Given the description of an element on the screen output the (x, y) to click on. 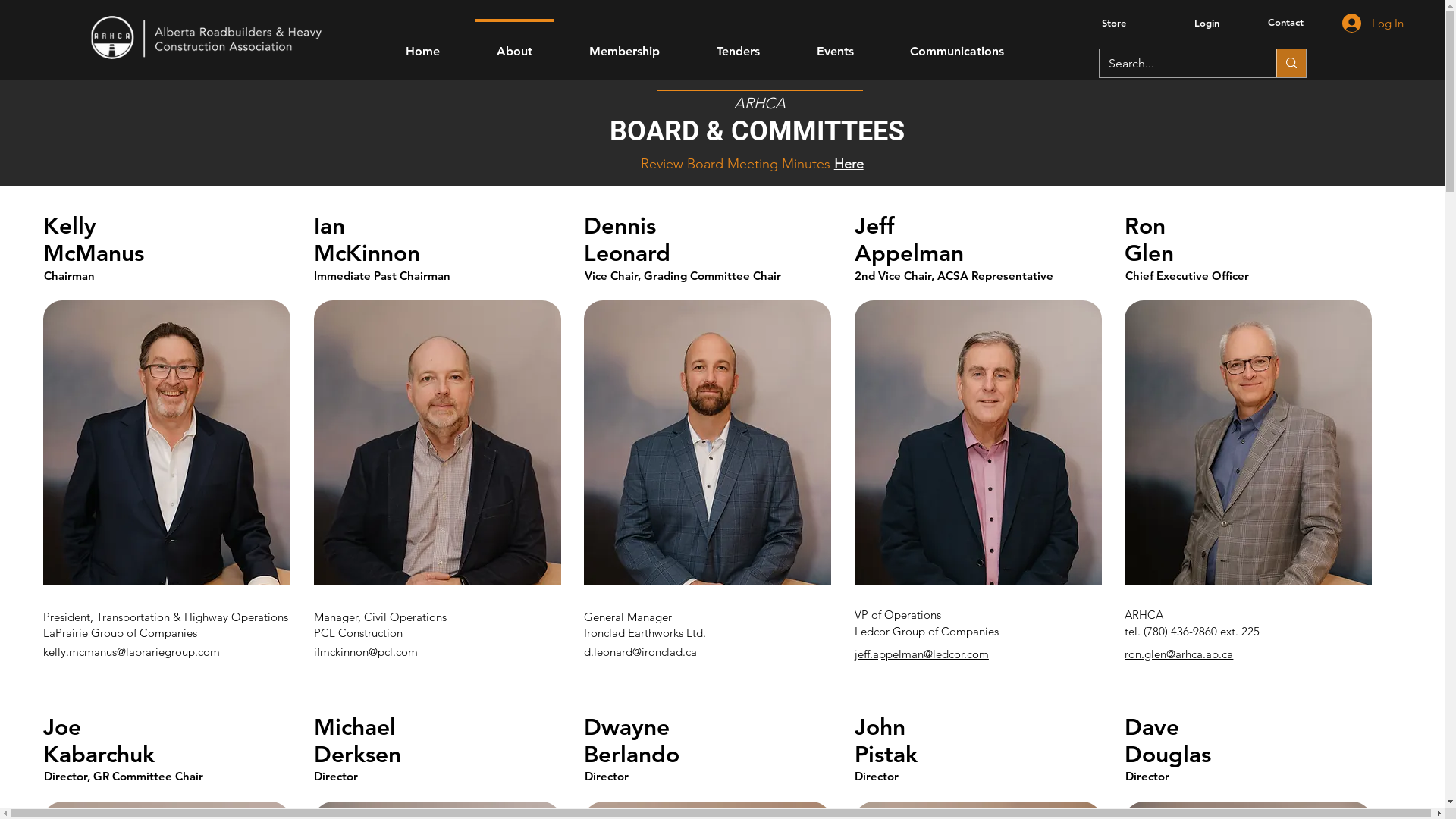
jeff.appelman@ledcor.com Element type: text (921, 653)
Here Element type: text (848, 163)
Tenders Element type: text (738, 43)
ifmckinnon@pcl.com Element type: text (365, 651)
About Element type: text (514, 43)
Events Element type: text (834, 43)
Log In Element type: text (1372, 23)
ron.glen@arhca.ab.ca Element type: text (1178, 653)
 Store Element type: text (1112, 22)
Membership Element type: text (624, 43)
Home Element type: text (422, 43)
d.leonard@ironclad.ca Element type: text (639, 651)
Contact  Element type: text (1286, 21)
 Login Element type: text (1205, 22)
kelly.mcmanus@laprariegroup.com Element type: text (131, 651)
